Given the description of an element on the screen output the (x, y) to click on. 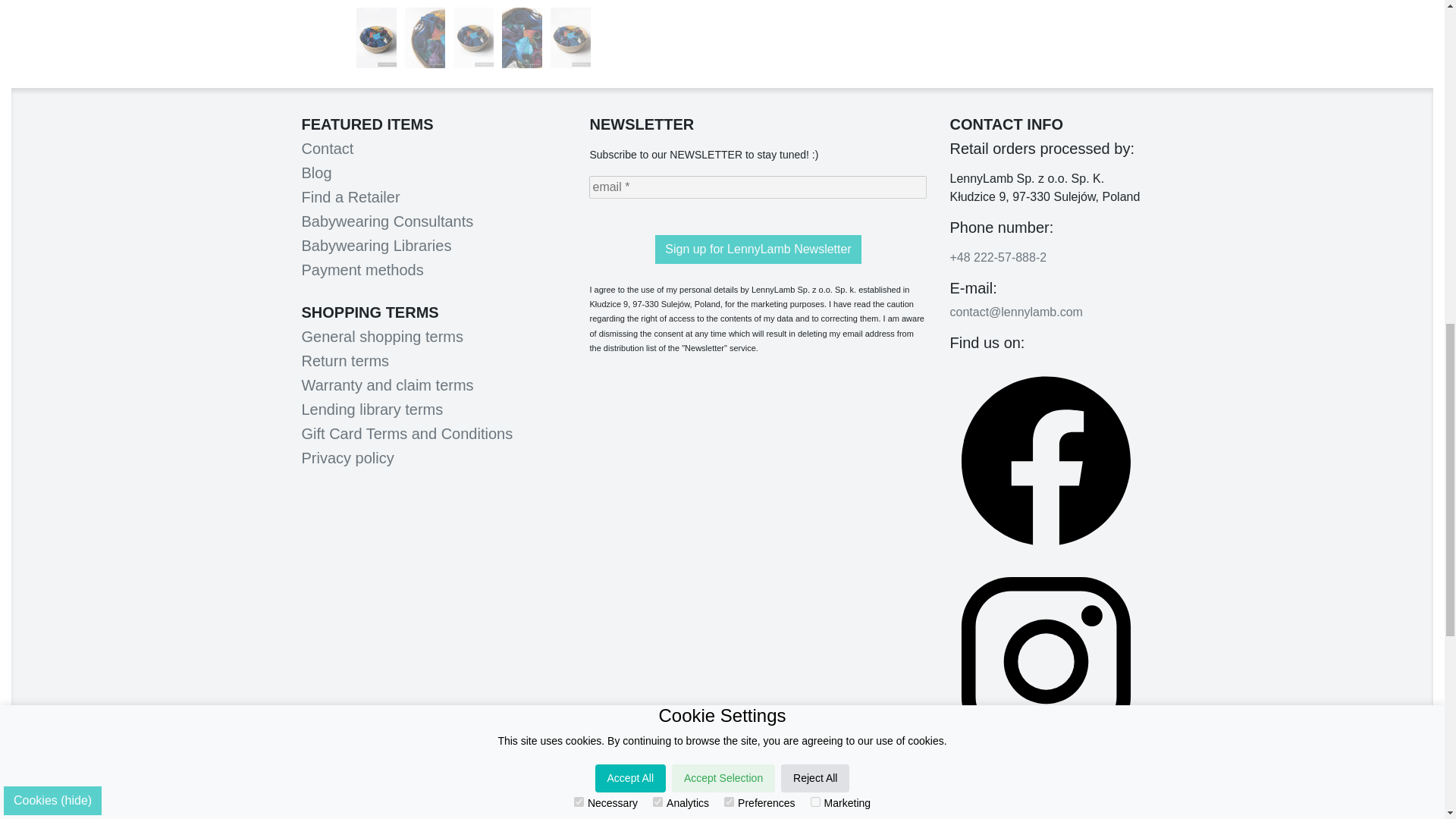
Facebook (1045, 464)
Youtube (1045, 792)
Instagram (1045, 665)
Sign up for LennyLamb Newsletter (757, 249)
